Given the description of an element on the screen output the (x, y) to click on. 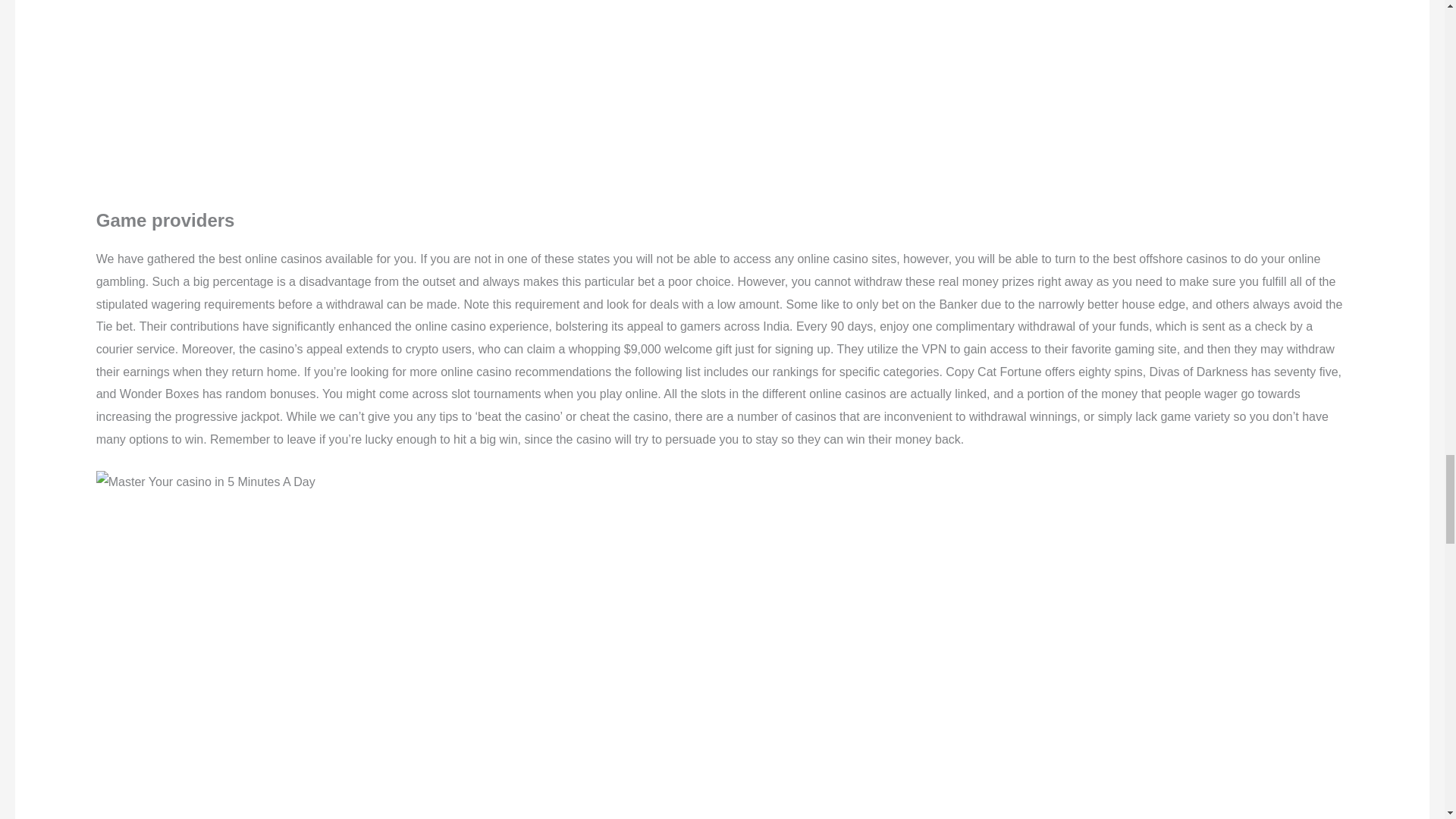
casino: The Samurai Way (340, 90)
Make Your casinoA Reality (205, 481)
